Given the description of an element on the screen output the (x, y) to click on. 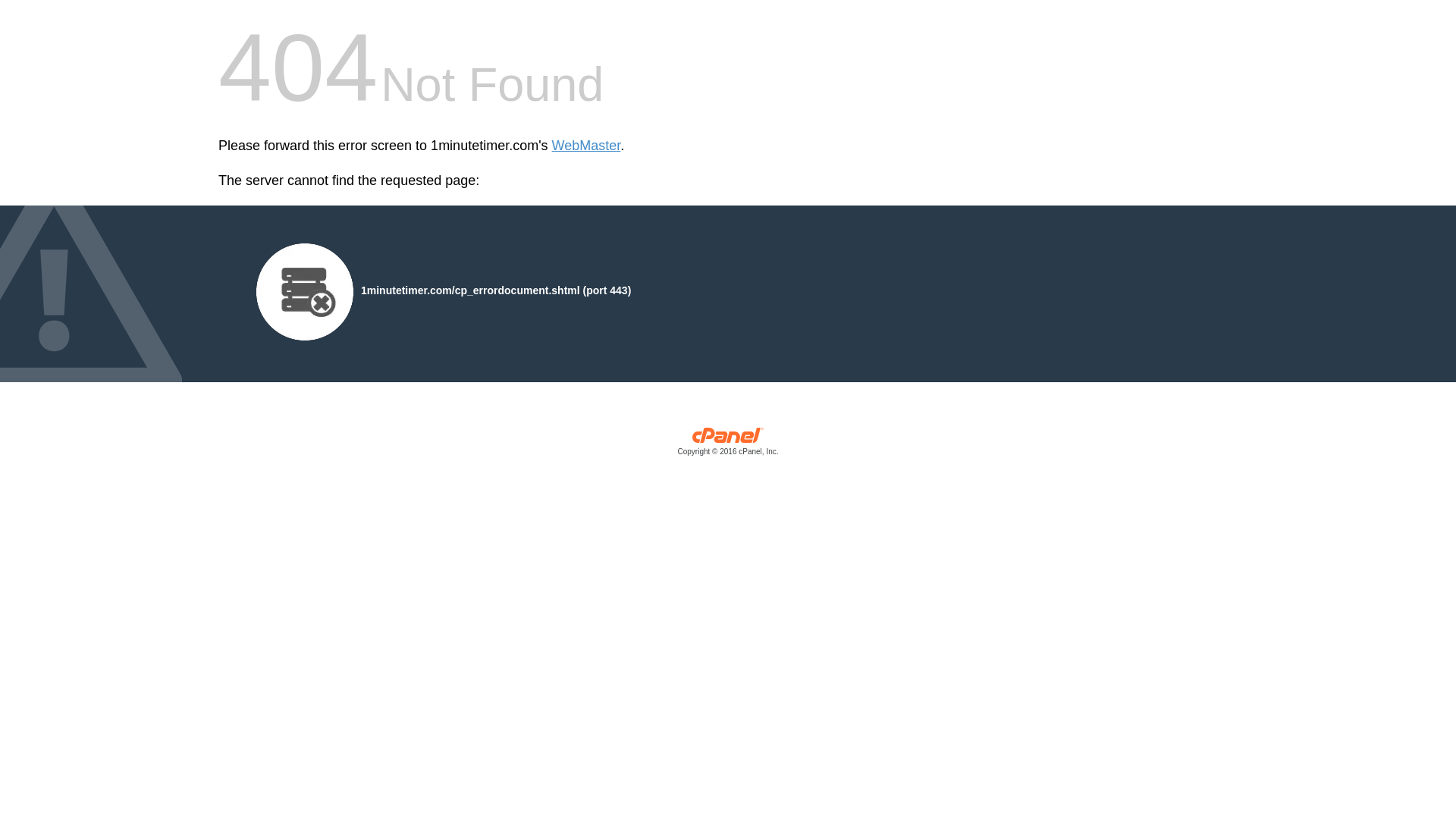
WebMaster Element type: text (586, 145)
